Given the description of an element on the screen output the (x, y) to click on. 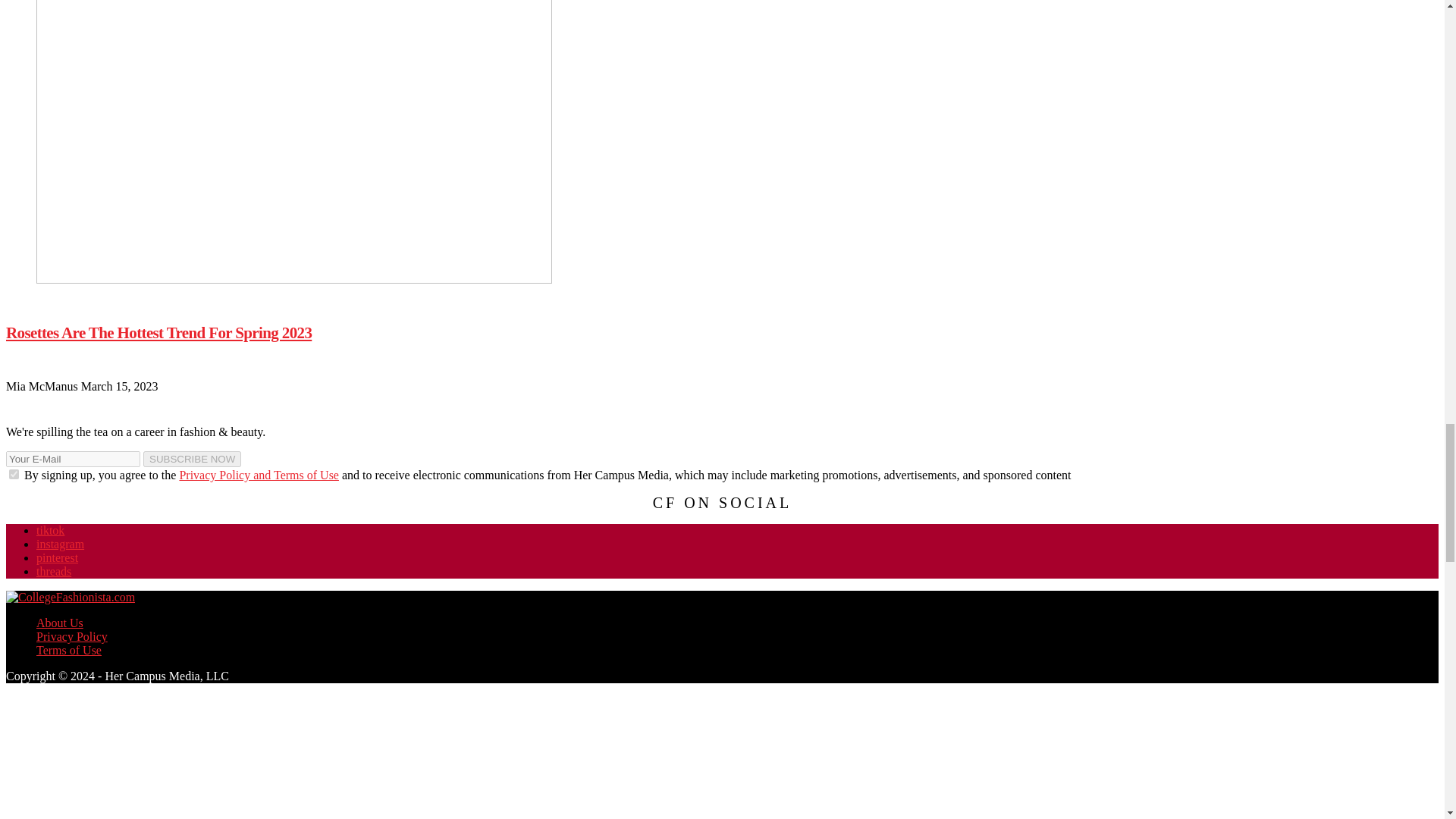
on (13, 474)
